Given the description of an element on the screen output the (x, y) to click on. 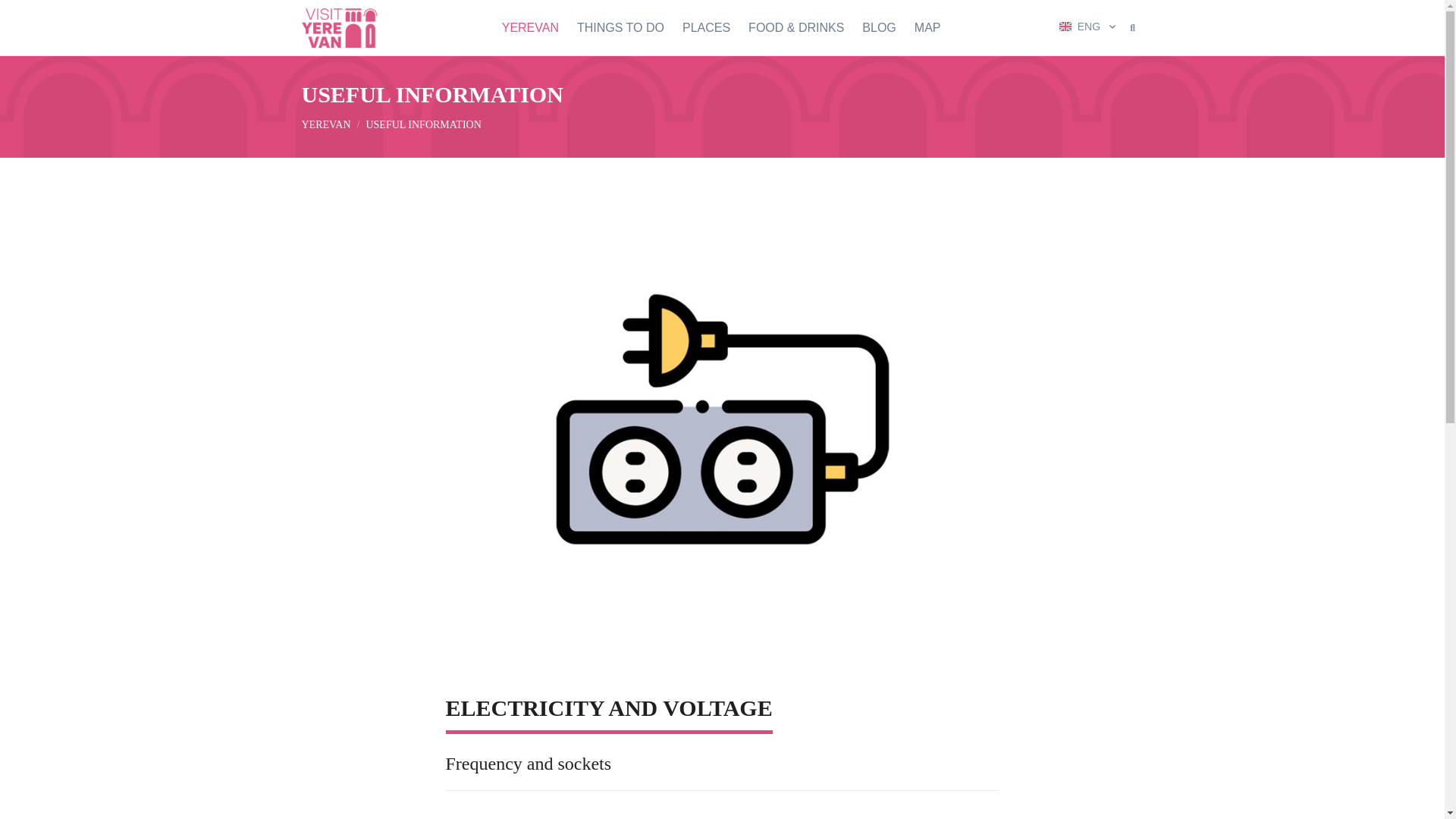
ENG (1088, 26)
YEREVAN (534, 28)
THINGS TO DO (619, 28)
PLACES (705, 28)
